Given the description of an element on the screen output the (x, y) to click on. 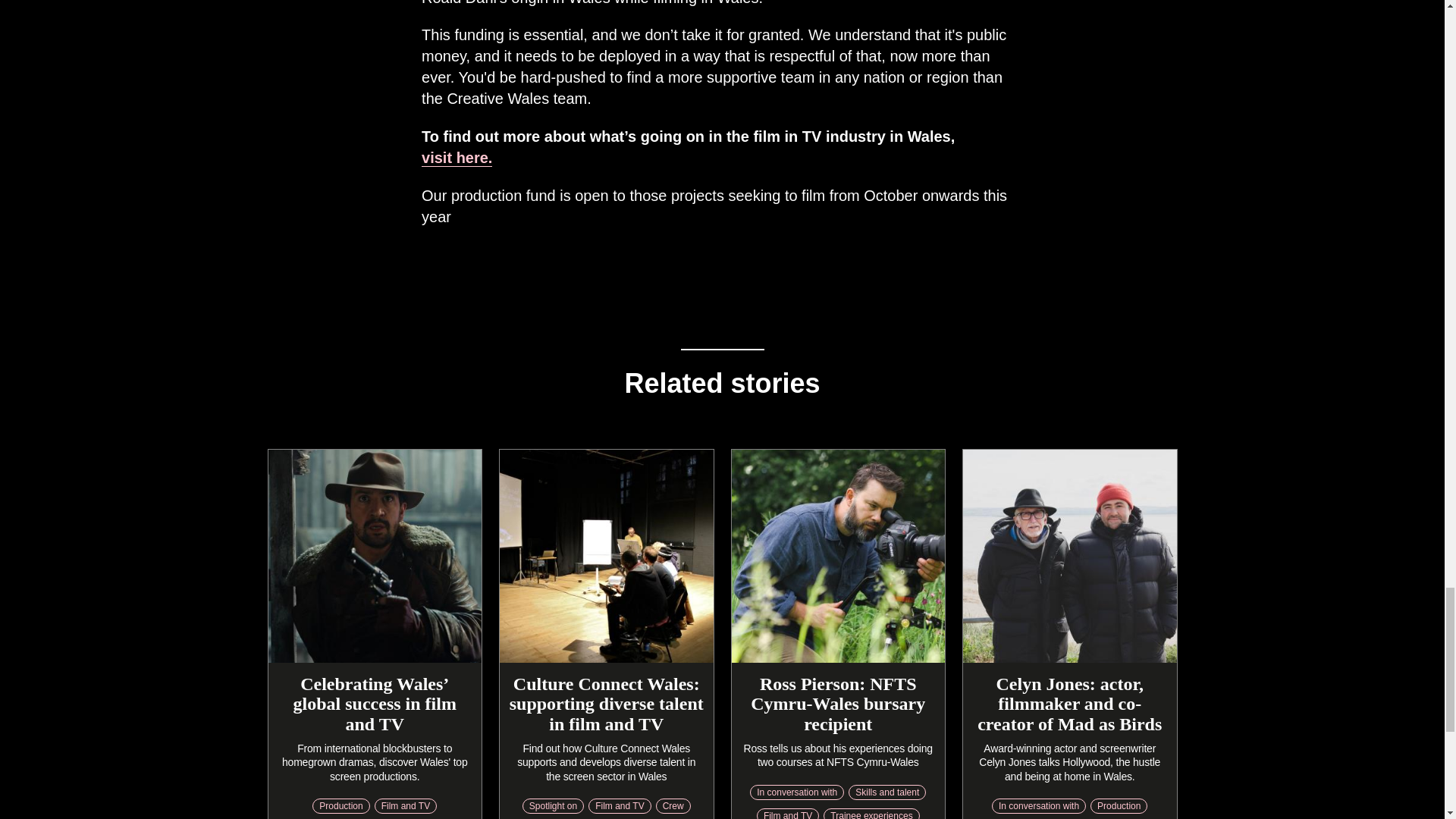
Spotlight on (552, 806)
Trainee experiences (871, 813)
Ross Pierson: NFTS Cymru-Wales bursary recipient (837, 703)
Film and TV (619, 806)
Crew (673, 806)
In conversation with (1038, 806)
Production (341, 806)
Production (1118, 806)
 here. (471, 158)
Celyn Jones: actor, filmmaker and co-creator of Mad as Birds (1068, 703)
